Given the description of an element on the screen output the (x, y) to click on. 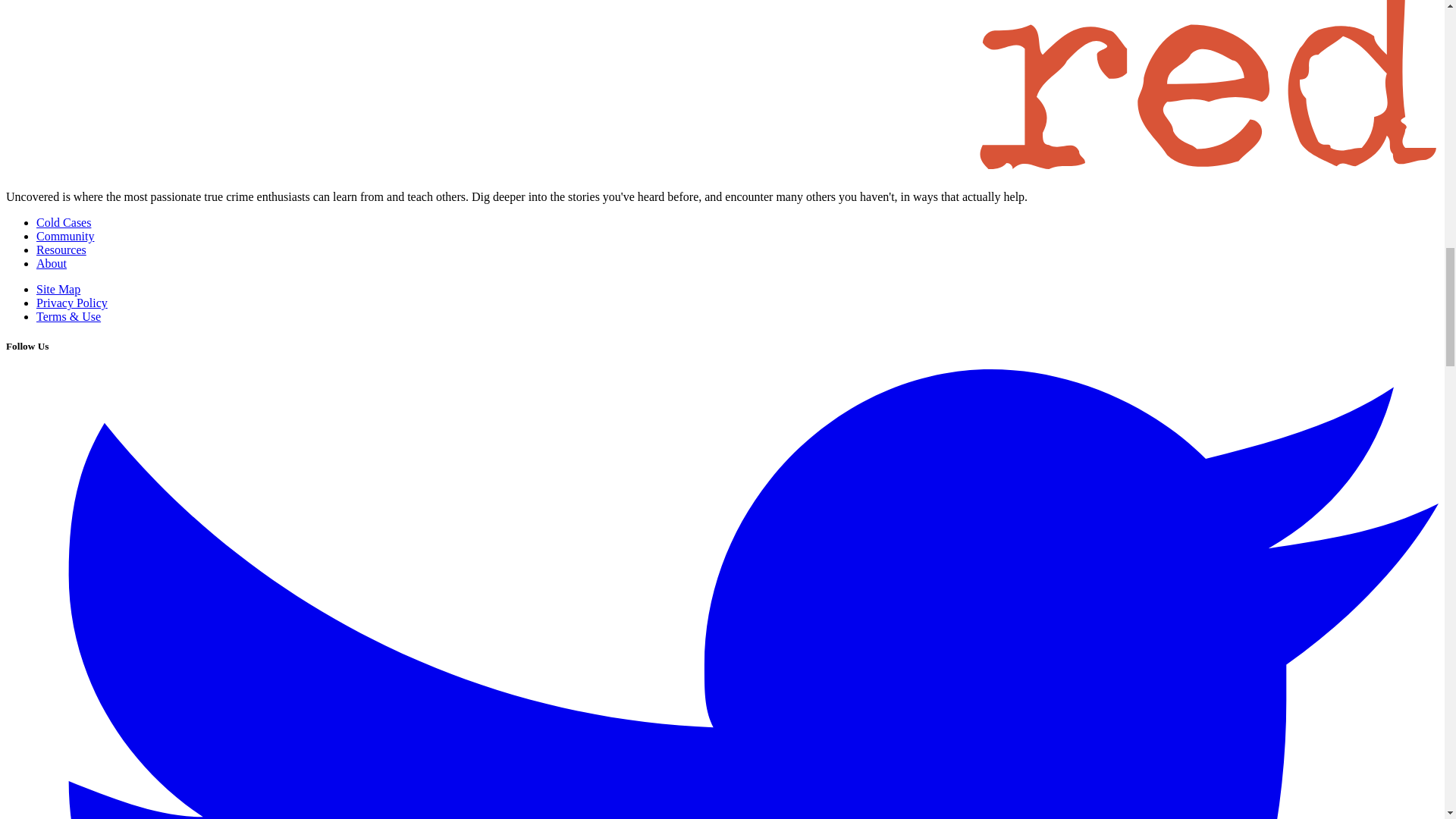
Community (65, 236)
Cold Cases (63, 222)
Resources (60, 249)
